Given the description of an element on the screen output the (x, y) to click on. 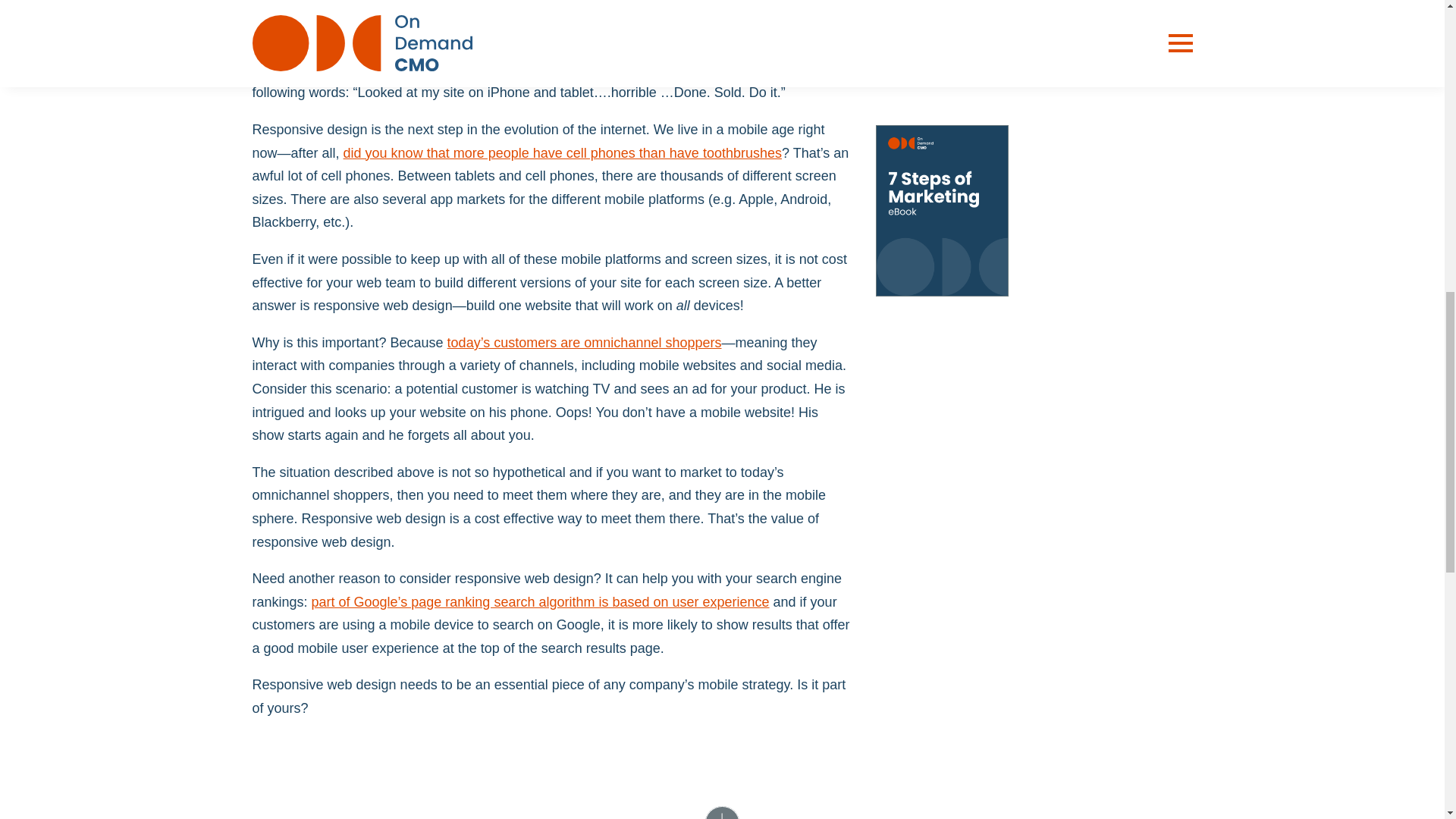
successes (924, 18)
